Given the description of an element on the screen output the (x, y) to click on. 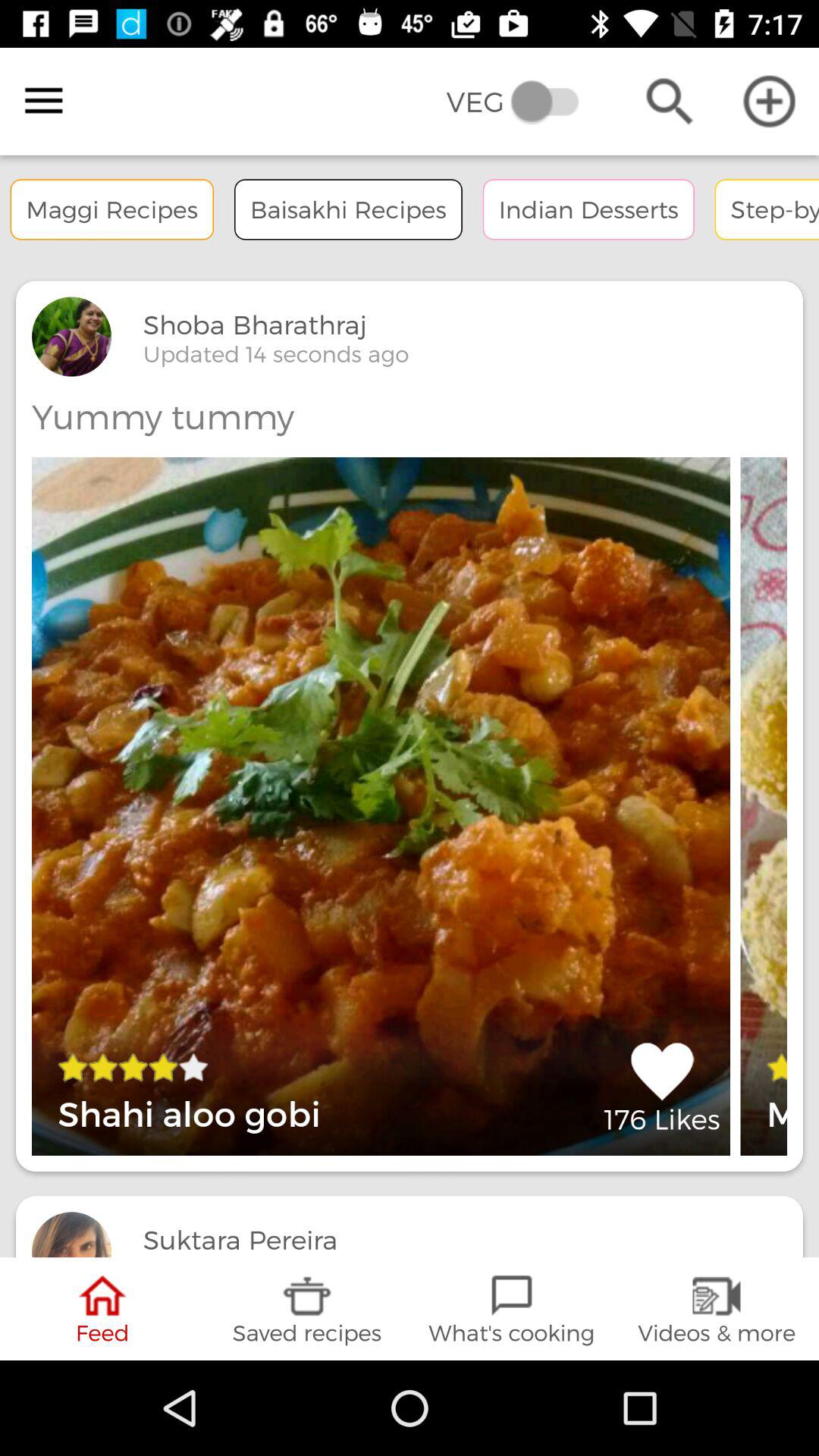
tap feed icon (102, 1308)
